Given the description of an element on the screen output the (x, y) to click on. 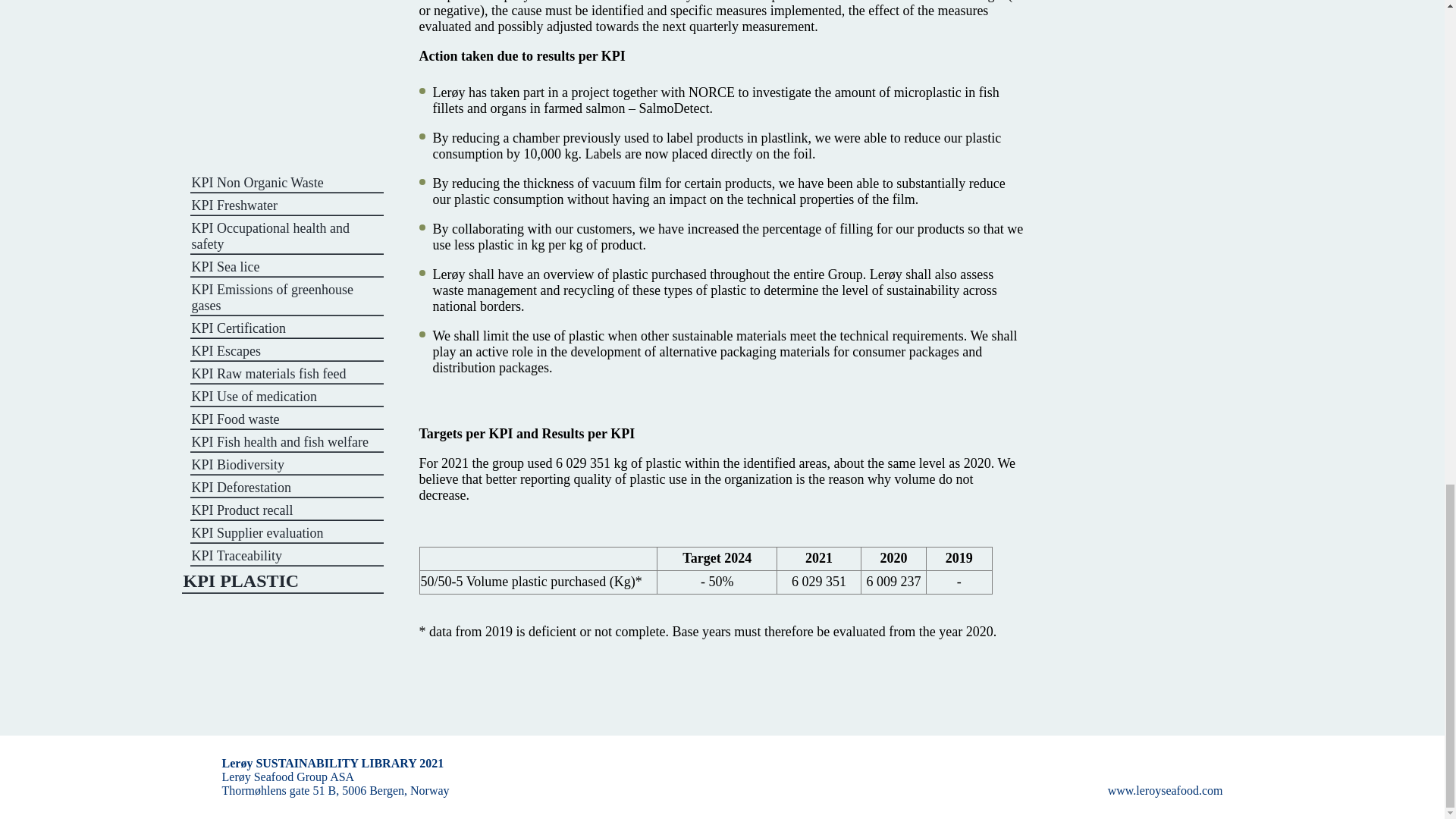
leroyseafood (1165, 790)
